Given the description of an element on the screen output the (x, y) to click on. 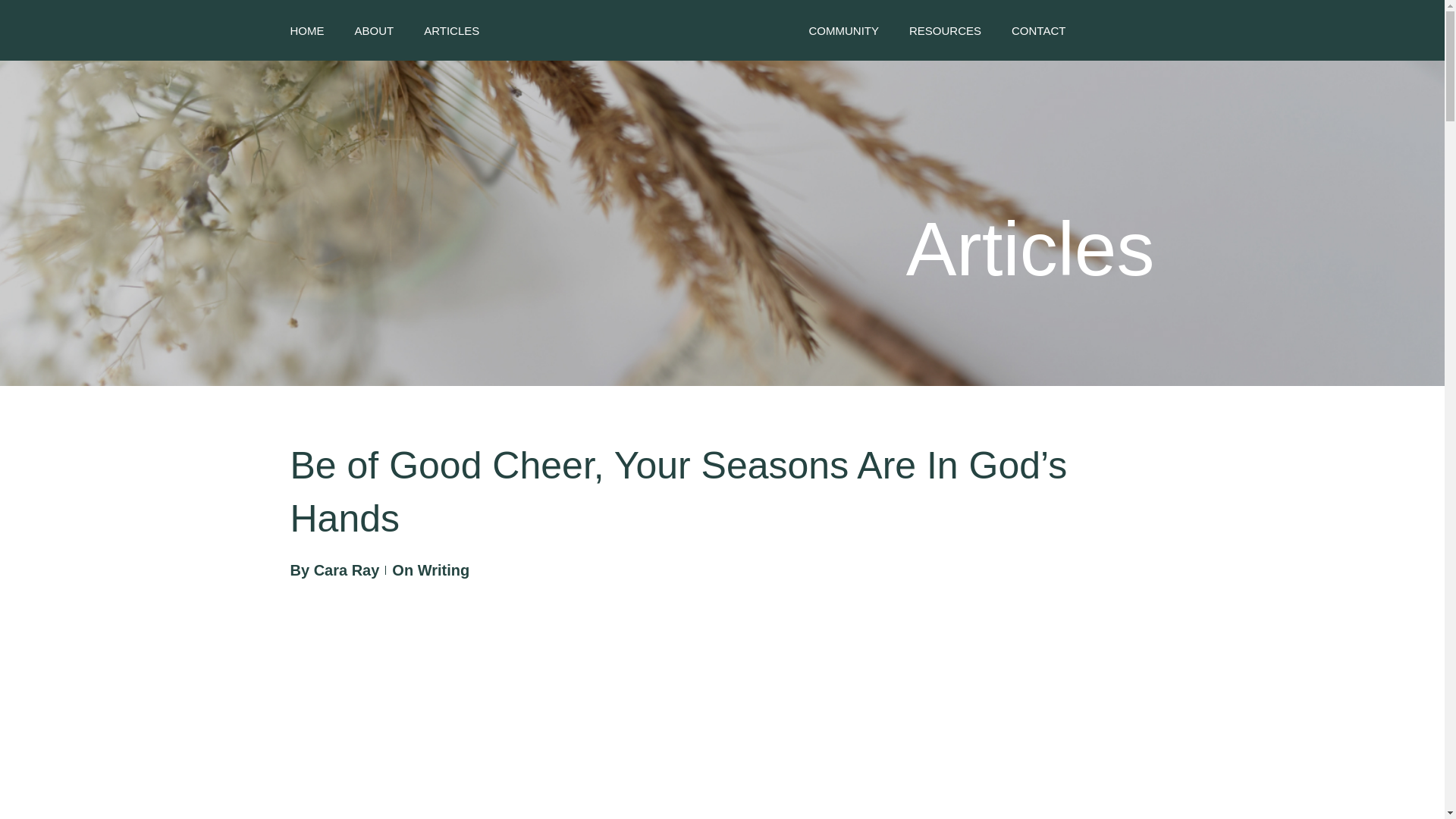
COMMUNITY (843, 30)
HOME (306, 30)
RESOURCES (944, 30)
CONTACT (1038, 30)
ABOUT (374, 30)
ARTICLES (451, 30)
On Writing (429, 569)
